Given the description of an element on the screen output the (x, y) to click on. 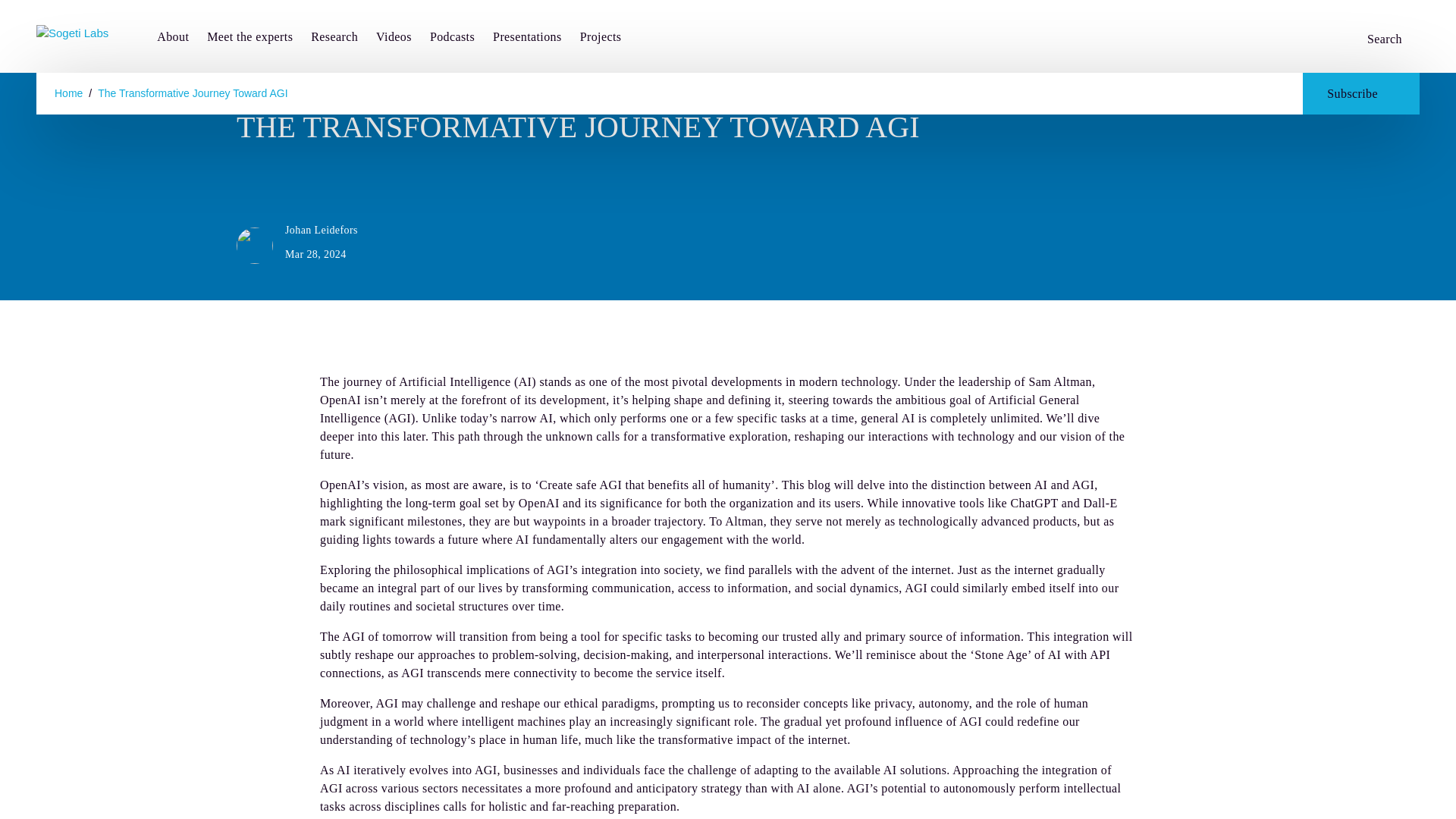
Meet the experts (249, 37)
Projects (600, 37)
Home (68, 93)
About (173, 37)
Videos (393, 37)
Research (334, 37)
Search (1393, 39)
Presentations (527, 37)
Podcasts (451, 37)
